Given the description of an element on the screen output the (x, y) to click on. 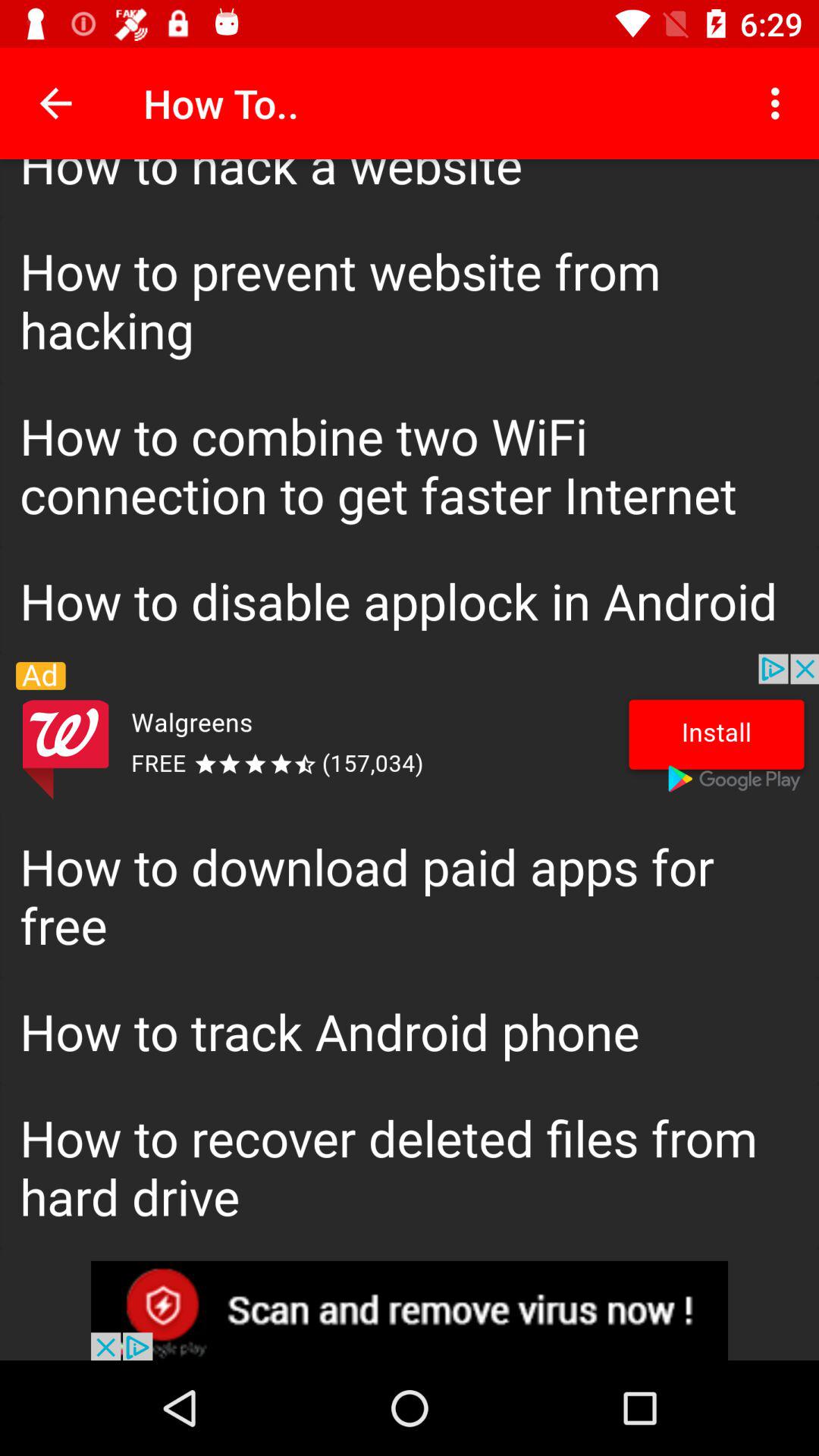
opens a advertisement (409, 1310)
